Given the description of an element on the screen output the (x, y) to click on. 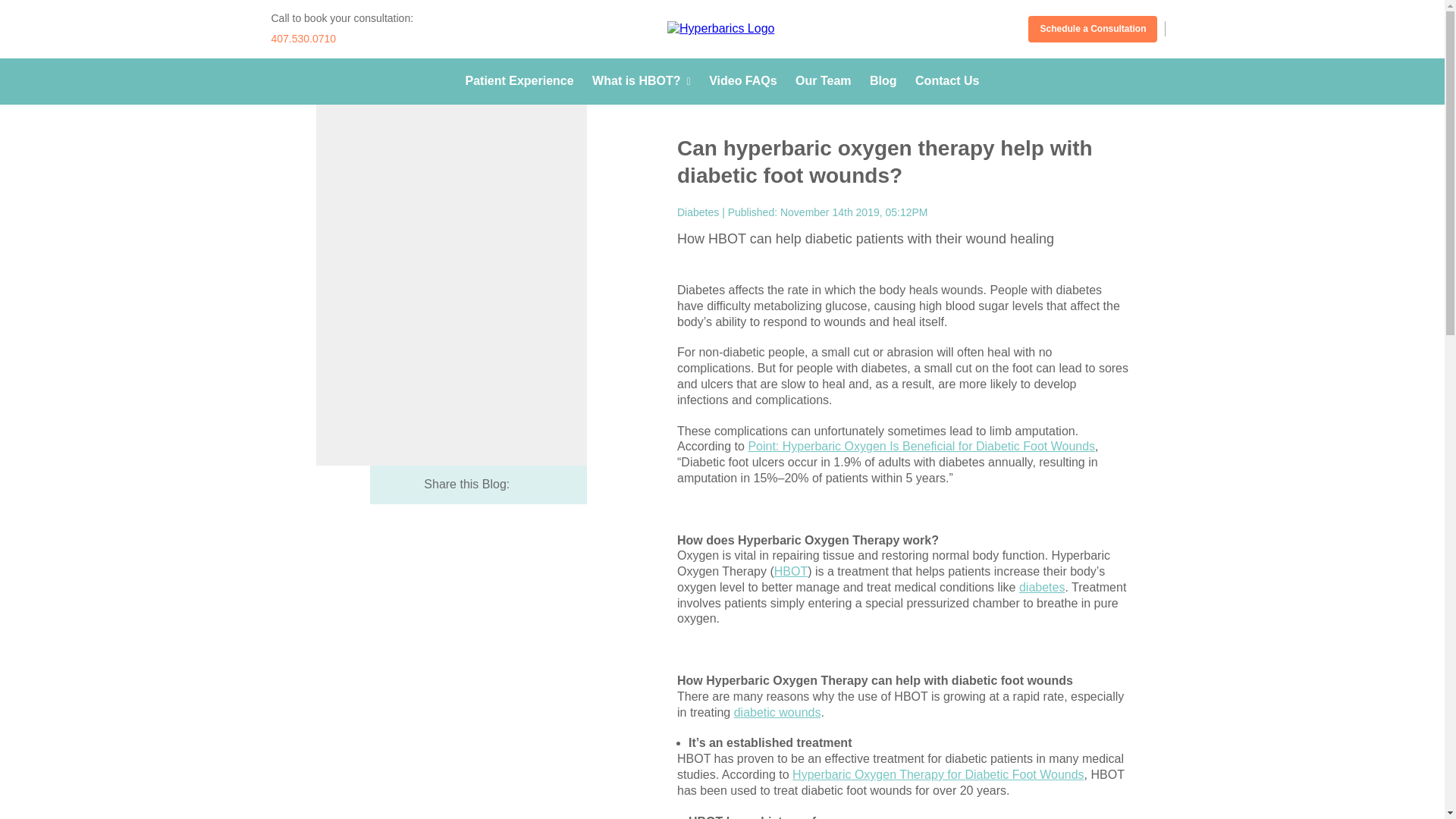
Blog (882, 80)
Contact Us (946, 80)
407.530.0710 (303, 38)
Schedule a Consultation (1092, 29)
Patient Experience (518, 80)
Video FAQs (743, 80)
What is HBOT? (641, 80)
Our Team (822, 80)
